Given the description of an element on the screen output the (x, y) to click on. 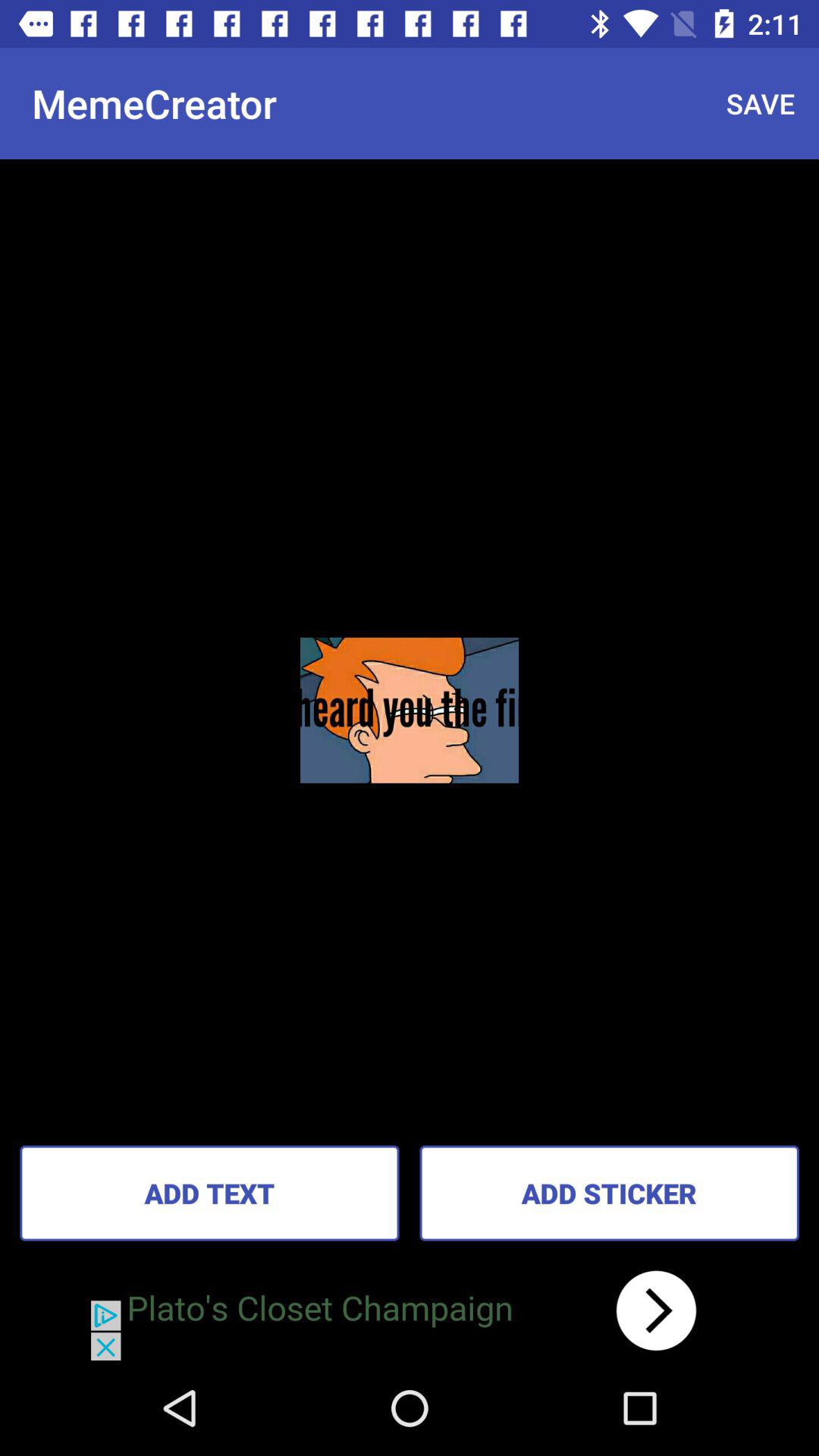
search (409, 1310)
